Given the description of an element on the screen output the (x, y) to click on. 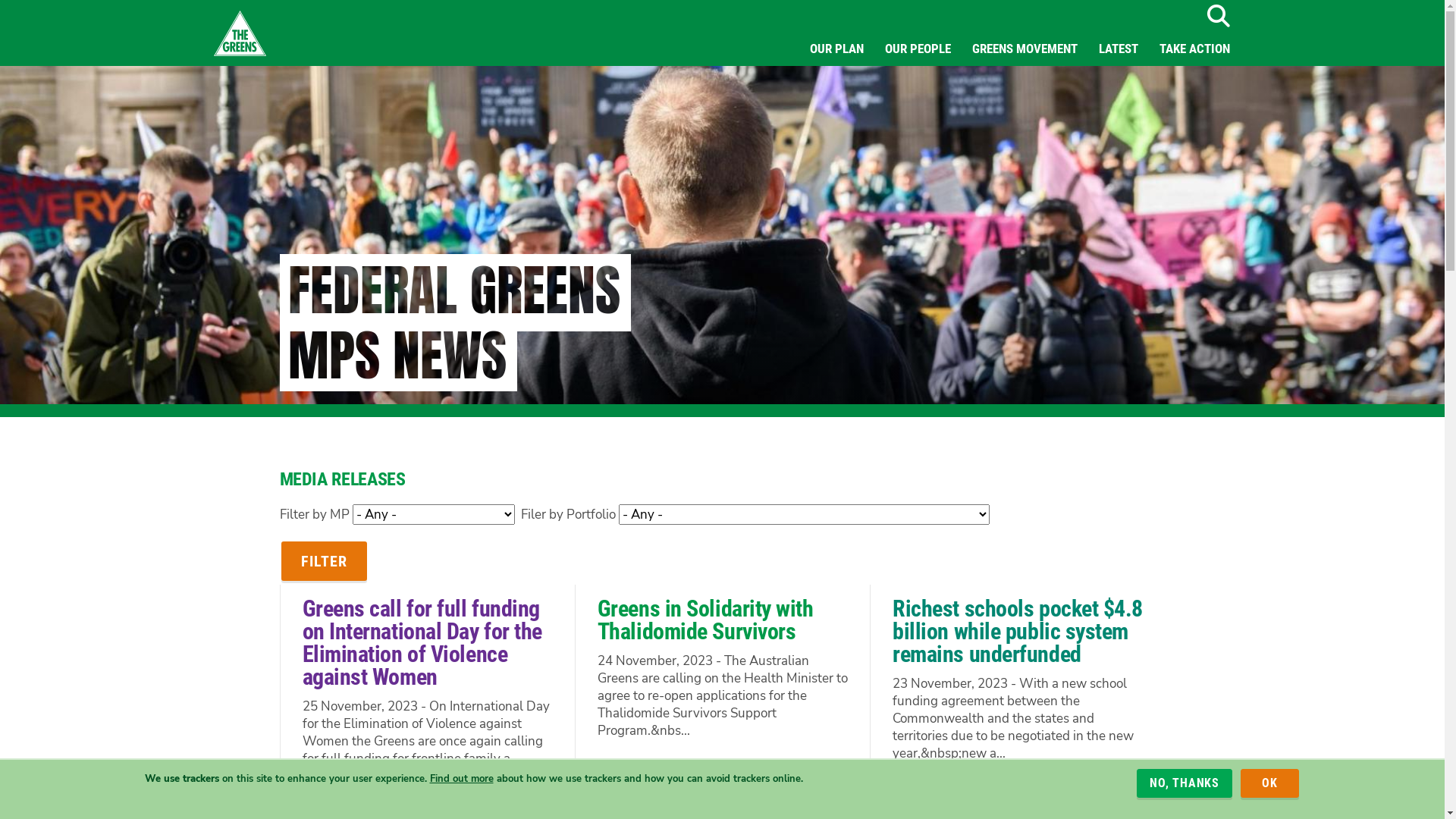
LATEST Element type: text (1117, 48)
Greens in Solidarity with Thalidomide Survivors Element type: text (705, 619)
Skip to main content Element type: text (0, 0)
Find out more Element type: text (460, 778)
Search Element type: text (1217, 15)
OUR PEOPLE Element type: text (916, 48)
OK Element type: text (1269, 782)
GREENS MOVEMENT Element type: text (1024, 48)
Filter Element type: text (323, 560)
NO, THANKS Element type: text (1184, 782)
TAKE ACTION Element type: text (1193, 48)
OUR PLAN Element type: text (836, 48)
